Given the description of an element on the screen output the (x, y) to click on. 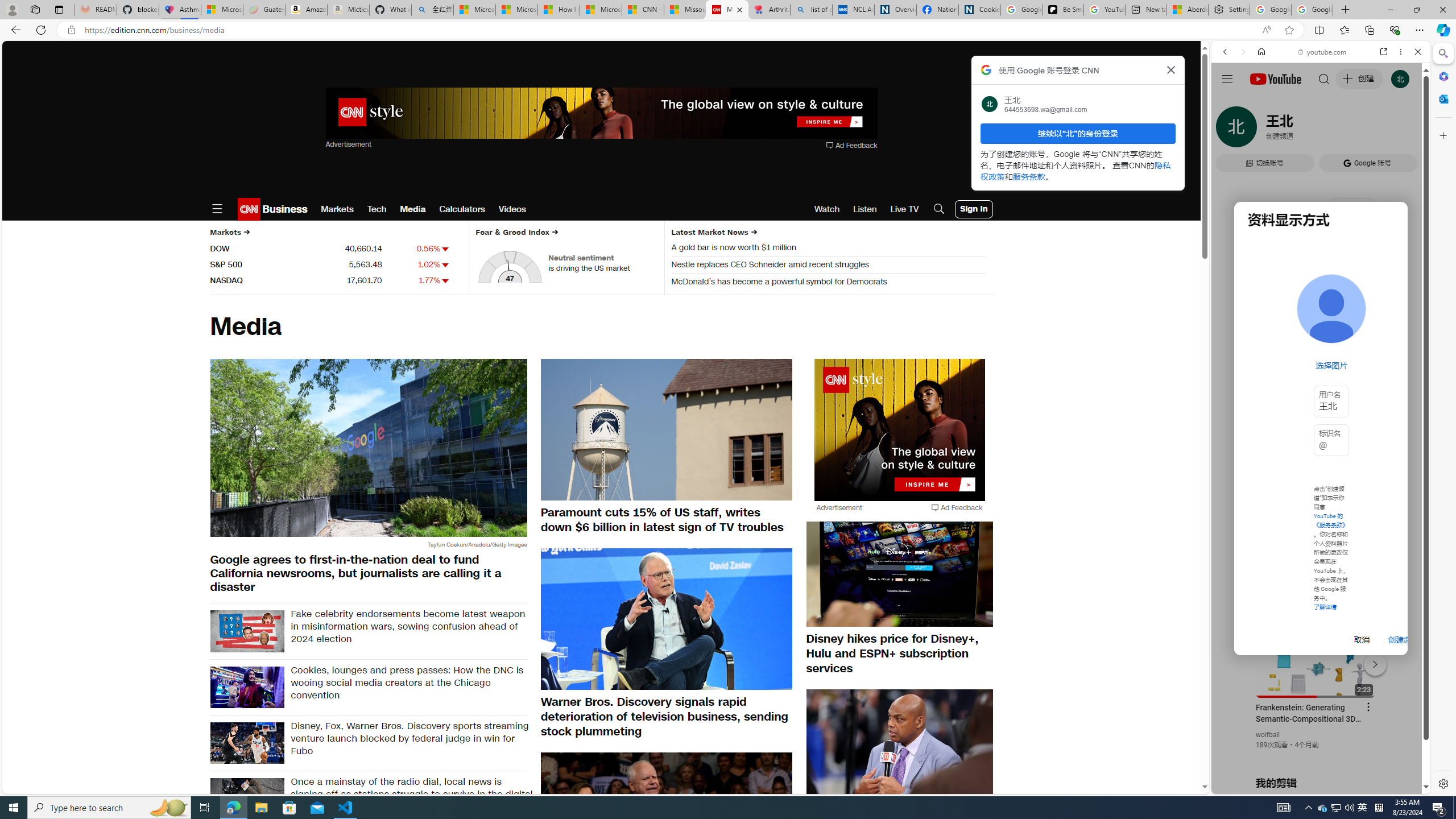
wolfball (1268, 734)
Forward (1242, 51)
Class: right-arrow (754, 232)
you (1315, 755)
WEB   (1230, 130)
Google (1320, 281)
